Given the description of an element on the screen output the (x, y) to click on. 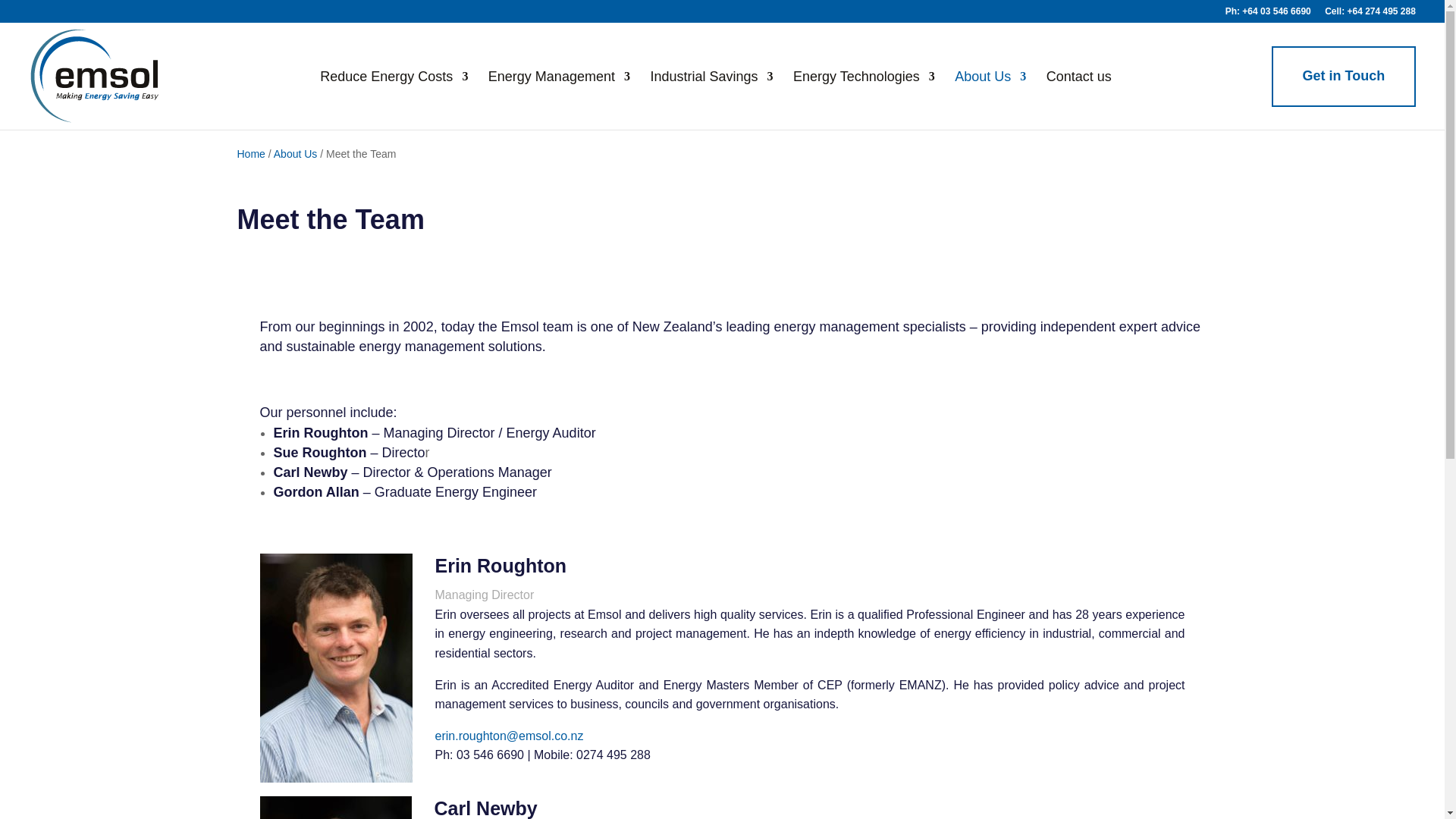
Contact us (1079, 92)
About Us (990, 92)
Energy Technologies (863, 92)
Energy Management (558, 92)
Reduce Energy Costs (393, 92)
Industrial Savings (711, 92)
